Given the description of an element on the screen output the (x, y) to click on. 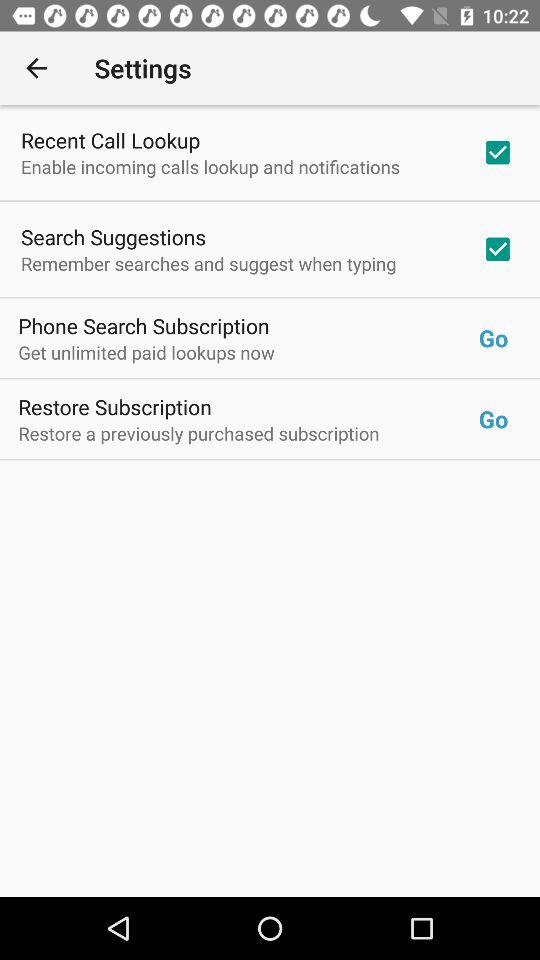
jump to search suggestions icon (113, 236)
